Given the description of an element on the screen output the (x, y) to click on. 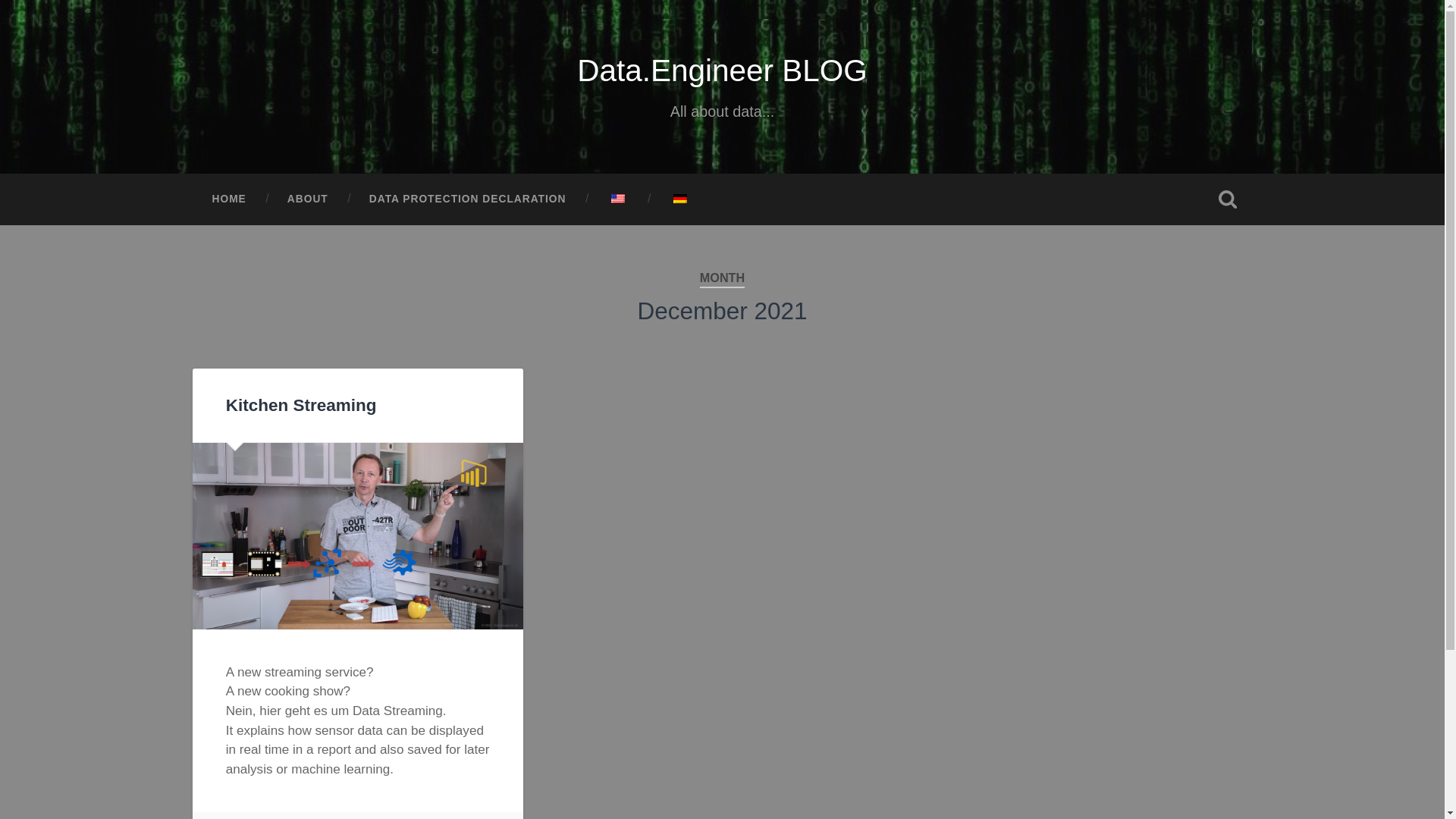
English (617, 198)
HOME (228, 199)
Data.Engineer BLOG (721, 70)
ABOUT (307, 199)
Kitchen Streaming (301, 404)
0 (362, 815)
9. December 2021 (280, 815)
DATA PROTECTION DECLARATION (467, 199)
German (679, 198)
